Given the description of an element on the screen output the (x, y) to click on. 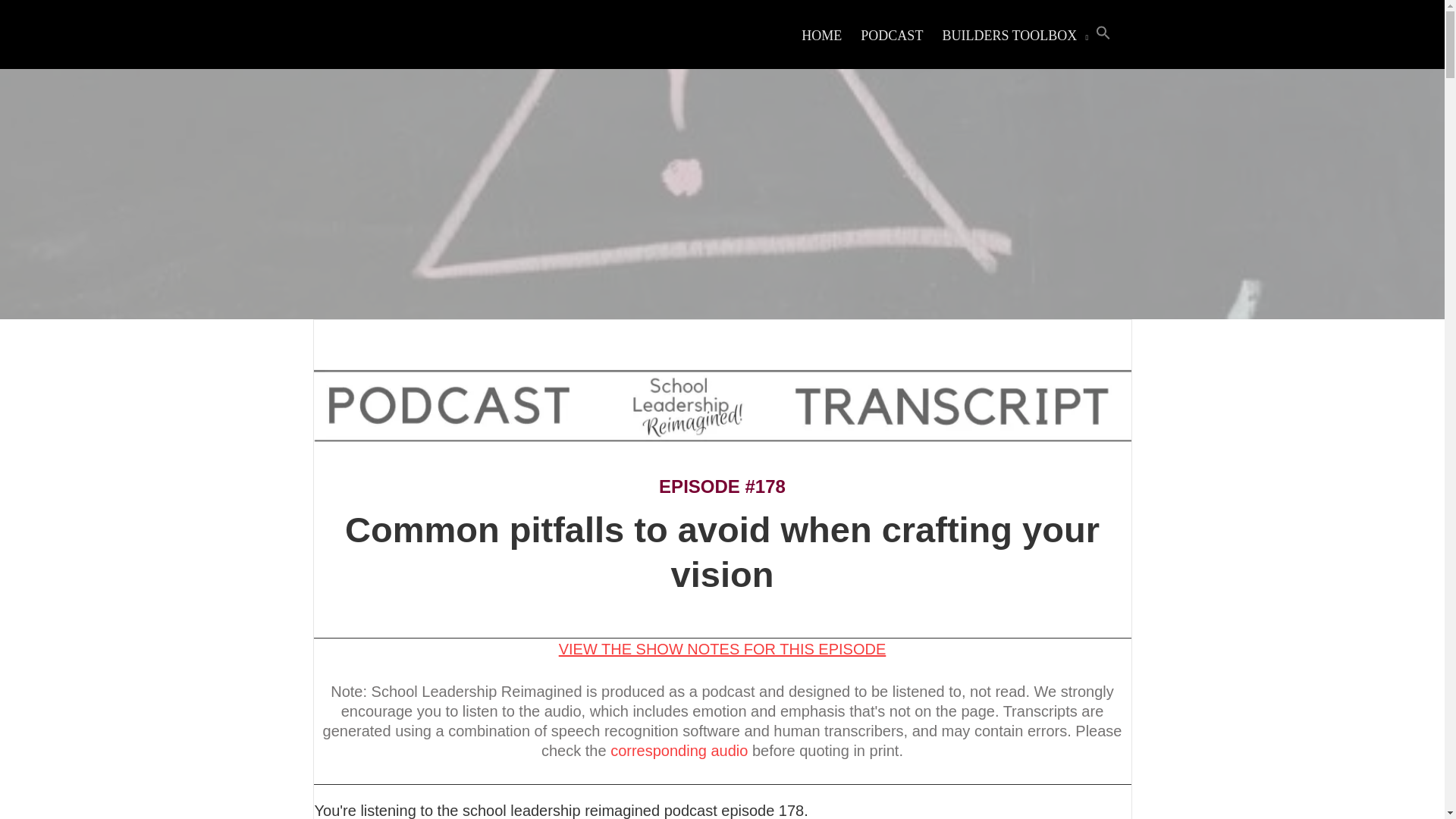
BUILDERS TOOLBOX (1009, 35)
podcast transcript header (722, 405)
VIEW THE SHOW NOTES FOR THIS EPISODE (722, 649)
PODCAST (891, 35)
HOME (821, 35)
corresponding audio (679, 750)
